Given the description of an element on the screen output the (x, y) to click on. 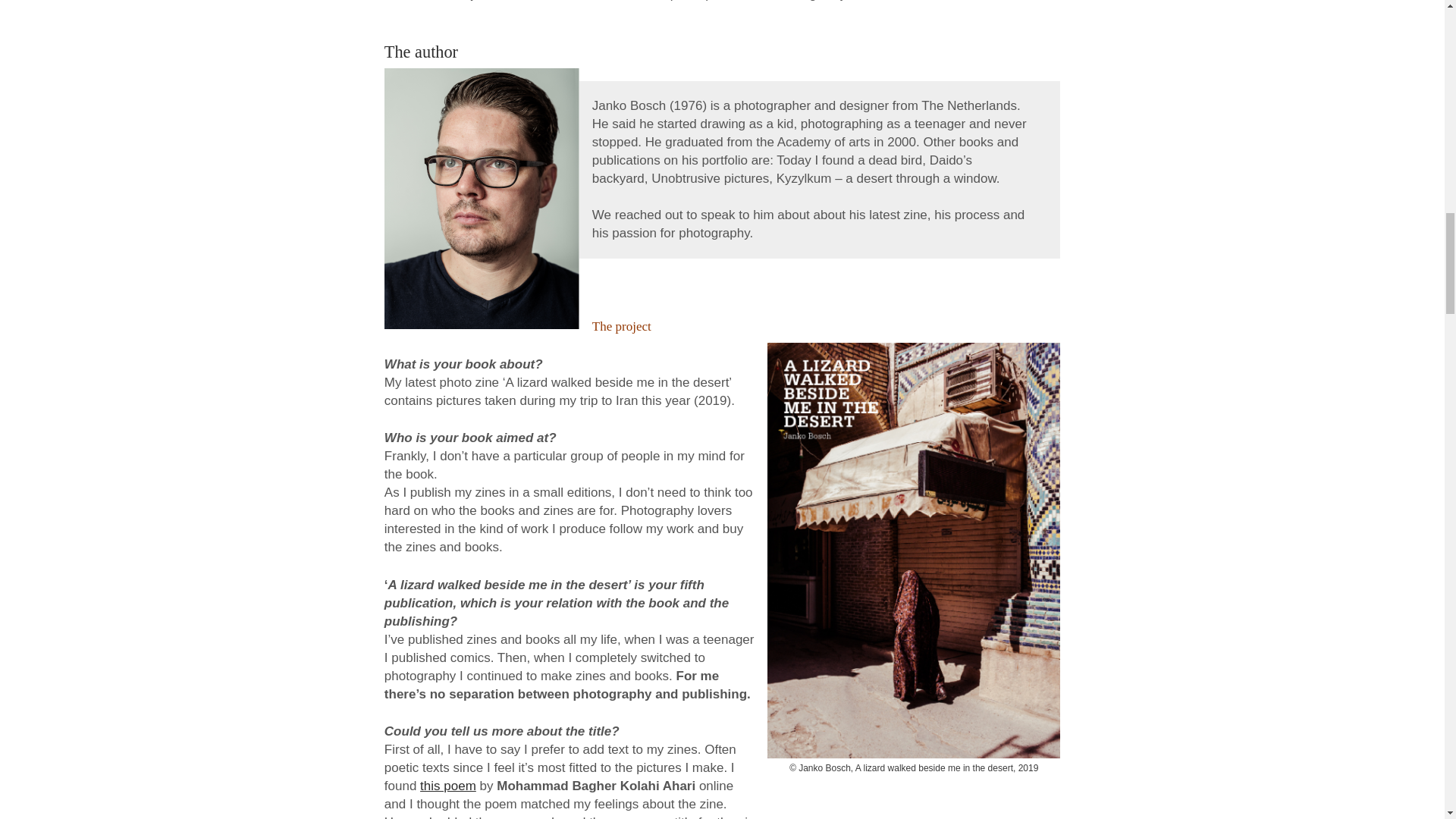
this poem (448, 785)
